Given the description of an element on the screen output the (x, y) to click on. 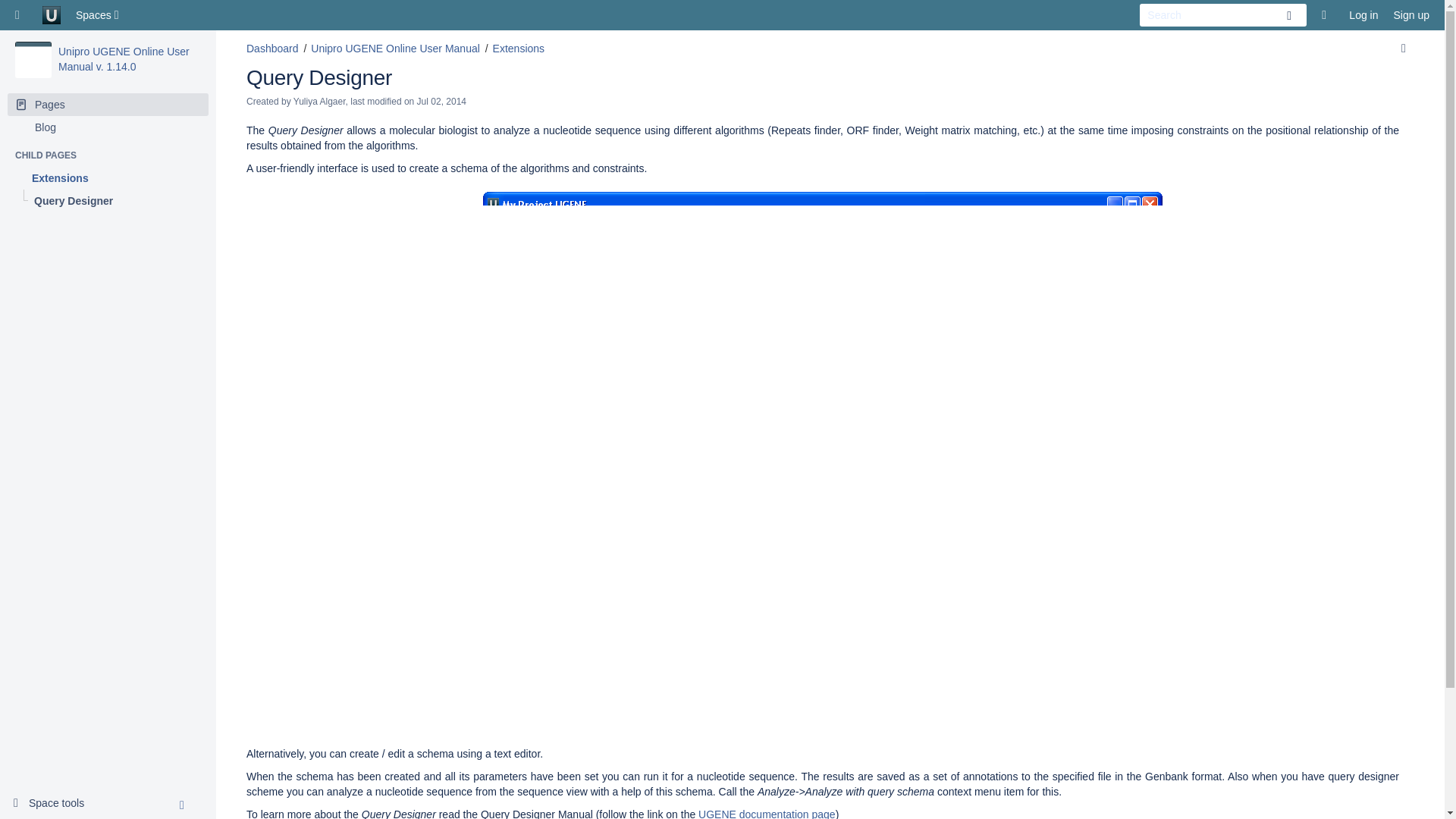
ConfigureSpace tools (54, 803)
Extensions (107, 178)
Log in (1363, 15)
Linked Applications (20, 15)
Unipro UGENE Online User Manual v. 1.14.0 (32, 59)
Extensions (107, 178)
Dashboard (272, 48)
Help (1327, 15)
Unipro UGENE Online User Manual v. 1.14.0 (123, 58)
Pages (107, 104)
Help (1327, 15)
Sign up (1411, 15)
Blog (107, 127)
Spaces (98, 15)
Unipro UGENE Online User Manual v. 1.14.0 (123, 58)
